Given the description of an element on the screen output the (x, y) to click on. 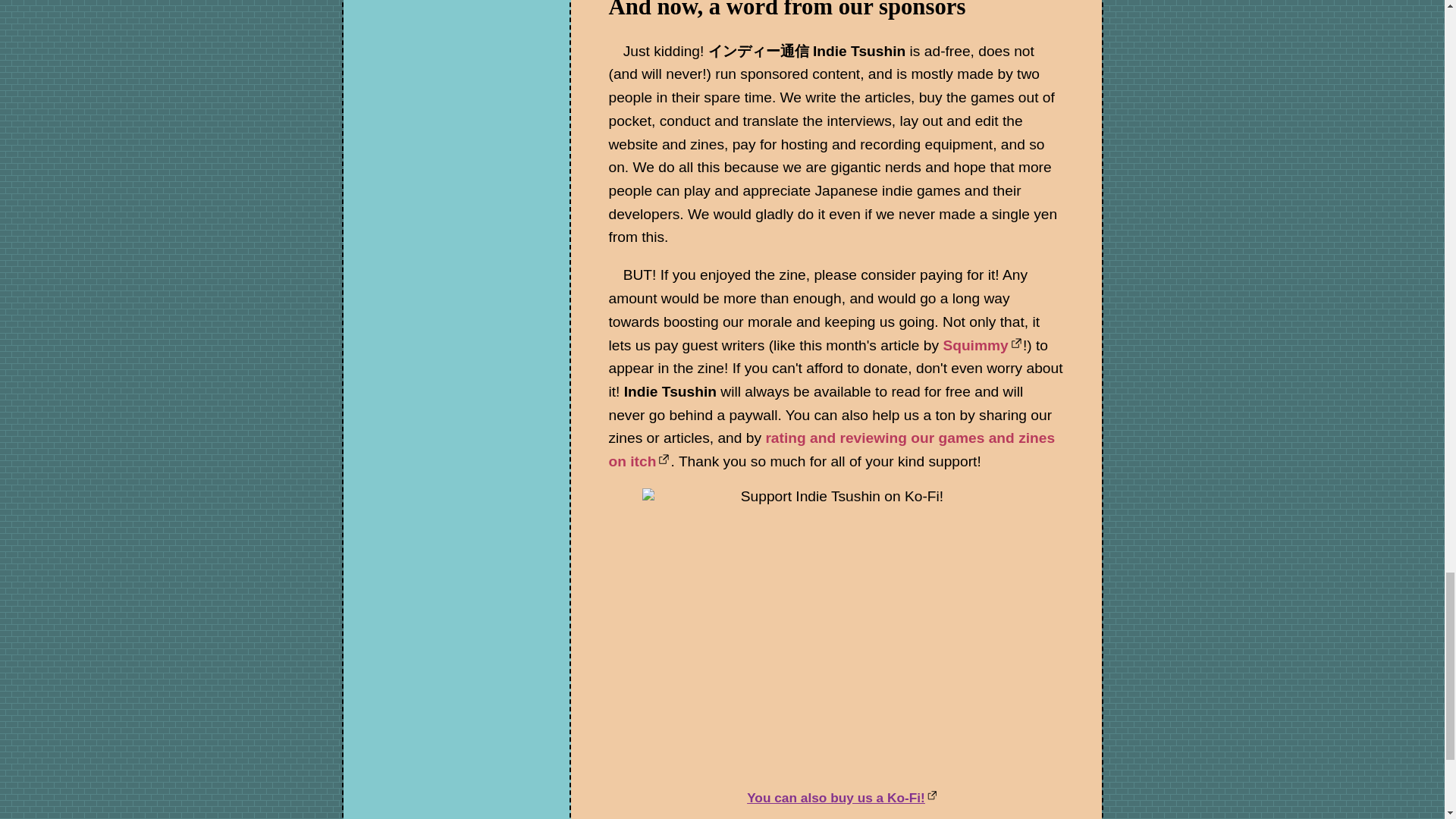
rating and reviewing our games and zines on itch (831, 449)
Squimmy (982, 344)
You can also buy us a Ko-Fi! (841, 797)
